Given the description of an element on the screen output the (x, y) to click on. 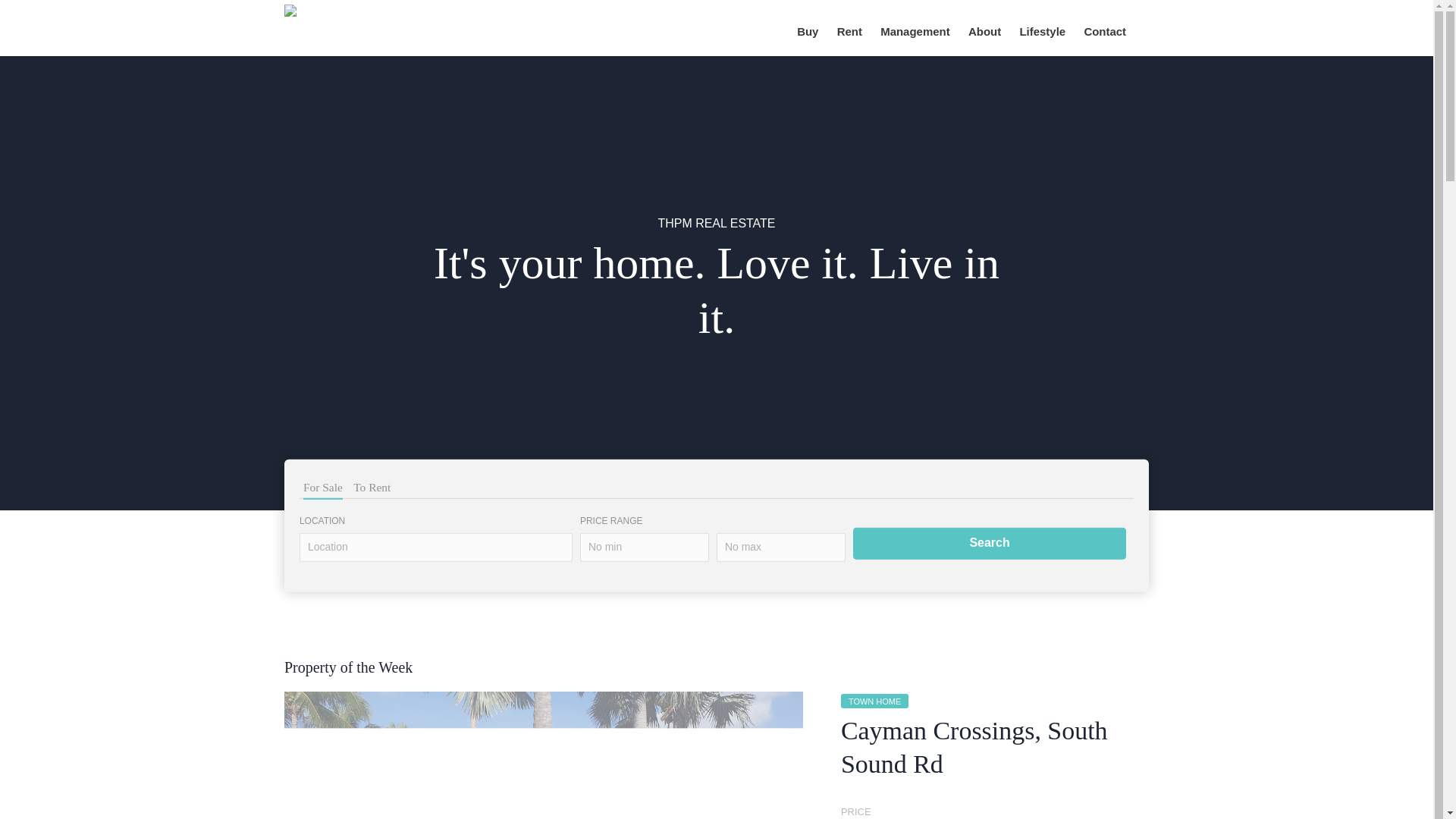
Rent (849, 33)
Buy (807, 33)
About (984, 33)
Management (914, 33)
Search (989, 543)
Contact (1104, 33)
Lifestyle (1042, 33)
